Given the description of an element on the screen output the (x, y) to click on. 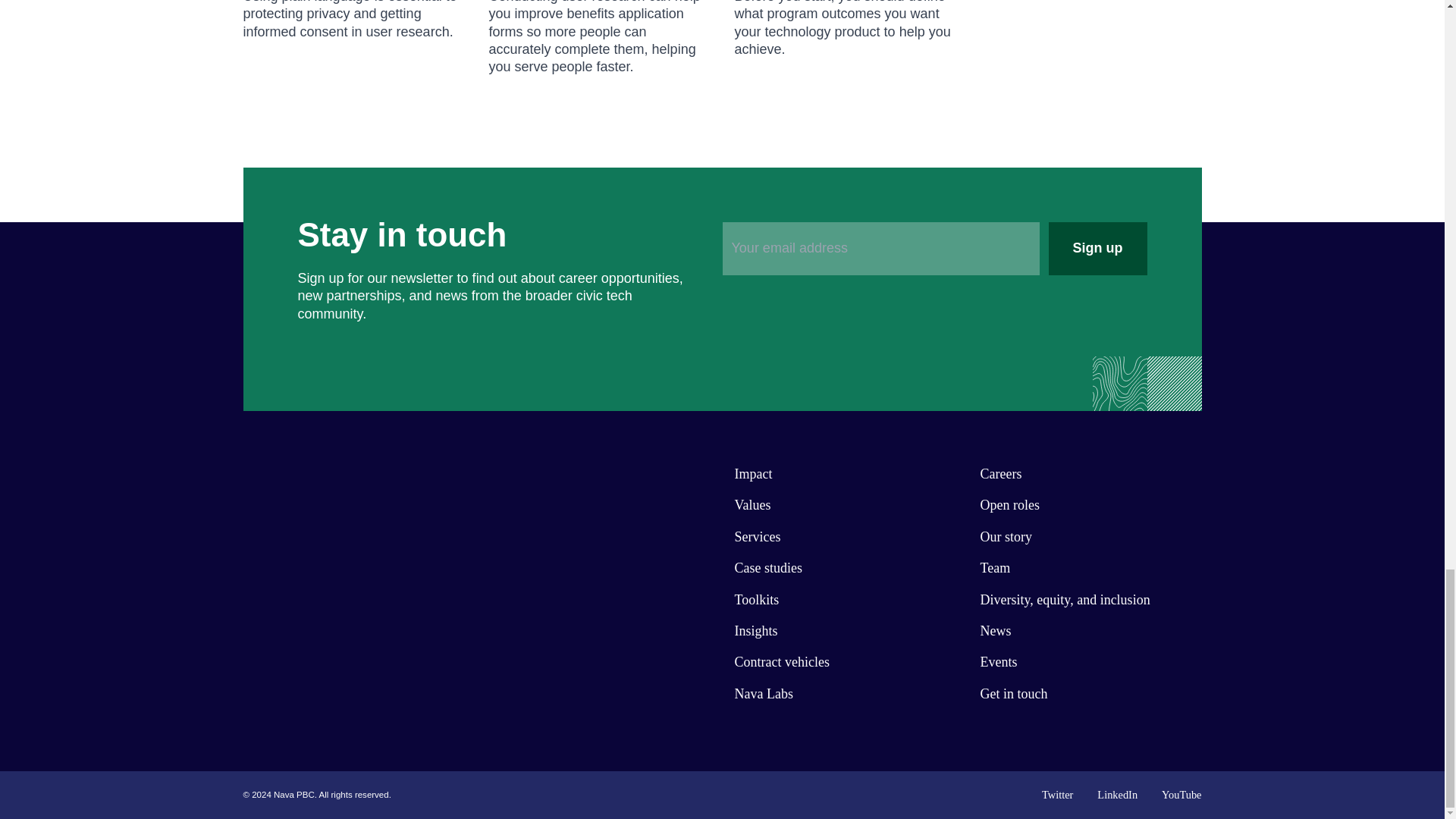
Sign up (1097, 248)
Sign up (1097, 248)
